Given the description of an element on the screen output the (x, y) to click on. 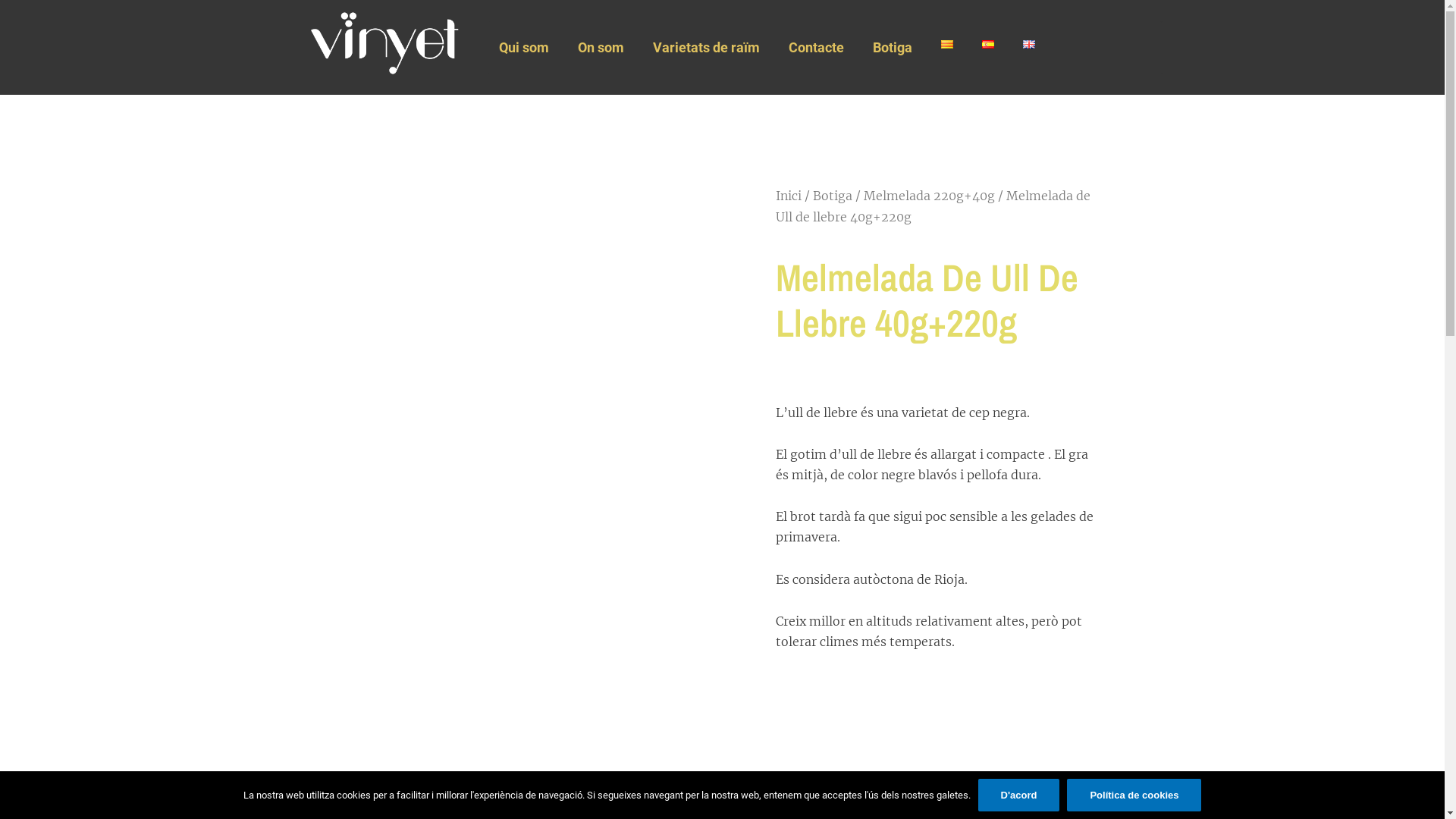
Qui som Element type: text (523, 47)
D'acord Element type: text (1019, 794)
On som Element type: text (600, 47)
Botiga Element type: text (892, 47)
Melmelada 220g+40g Element type: text (928, 195)
Contacte Element type: text (816, 47)
Inici Element type: text (787, 195)
Botiga Element type: text (832, 195)
